Given the description of an element on the screen output the (x, y) to click on. 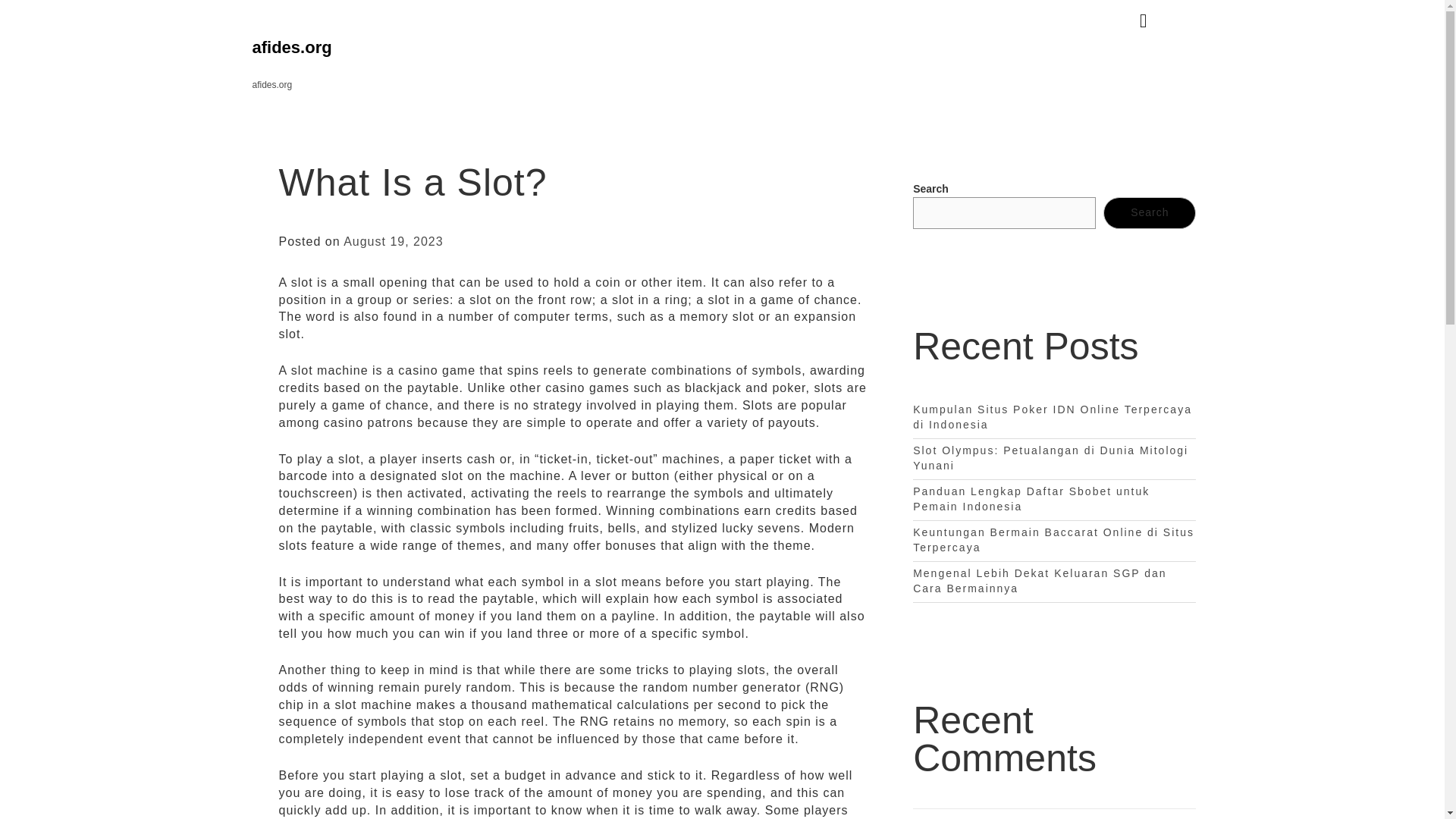
Slot Olympus: Petualangan di Dunia Mitologi Yunani (1050, 457)
Panduan Lengkap Daftar Sbobet untuk Pemain Indonesia (1031, 498)
Keuntungan Bermain Baccarat Online di Situs Terpercaya (1052, 539)
Search (1149, 213)
August 19, 2023 (393, 241)
Mengenal Lebih Dekat Keluaran SGP dan Cara Bermainnya (1039, 580)
Kumpulan Situs Poker IDN Online Terpercaya di Indonesia (1052, 416)
afides.org (291, 46)
